Given the description of an element on the screen output the (x, y) to click on. 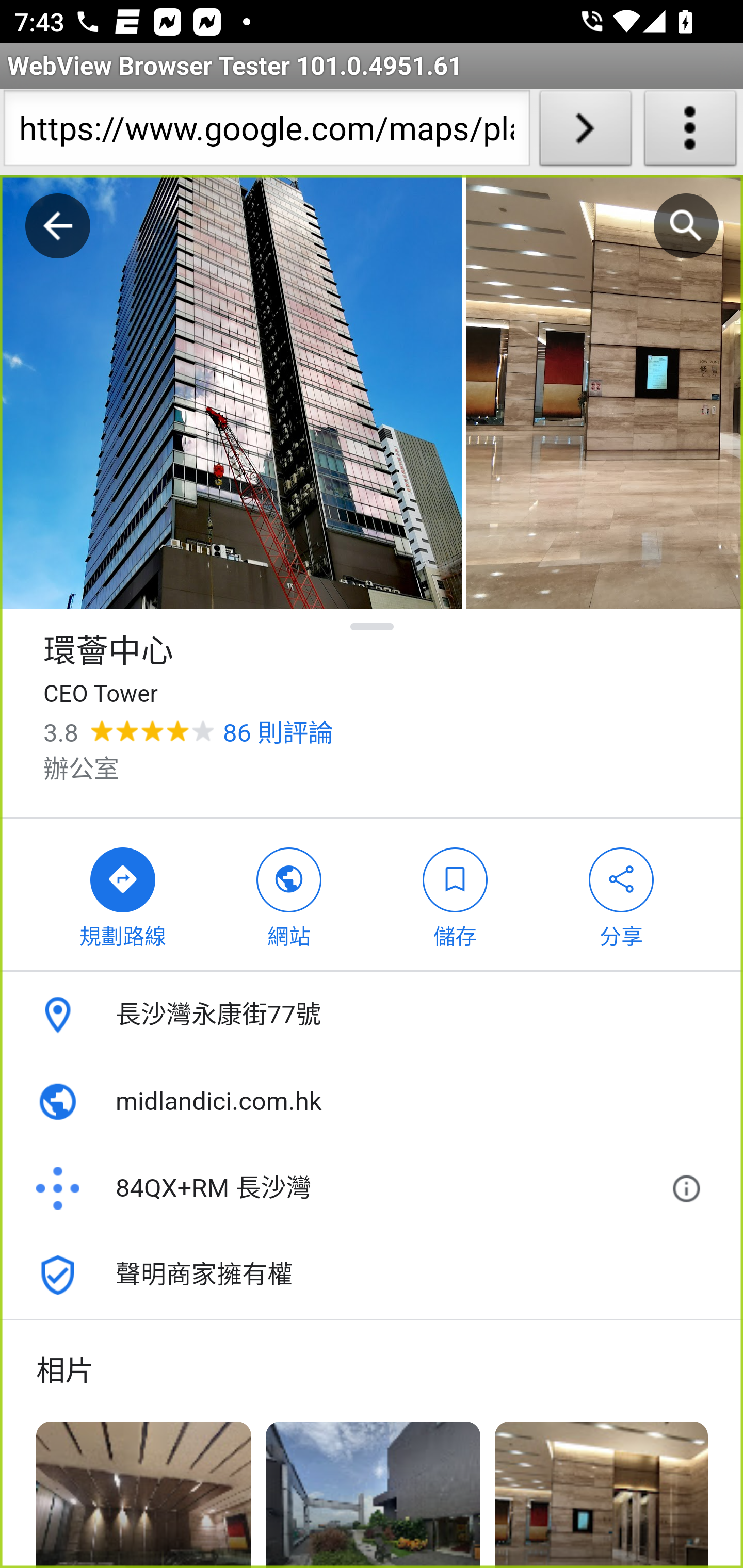
Load URL (585, 132)
About WebView (690, 132)
第 1 張相片 (共 10 張) (231, 392)
第 2 張相片 (共 10 張) (604, 392)
返回 (58, 226)
搜尋 (686, 226)
隱藏詳細資訊 (372, 626)
3.8 星級 86 則評論 (188, 733)
前往環薈中心的路線 (123, 894)
前往「環薈中心」的網站  網站 (289, 894)
將「環薈中心」儲存至清單中 (454, 894)
分享「環薈中心」 (621, 894)
地址: 長沙灣永康街77號  (371, 1014)
網站: midlandici.com.hk  midlandici.com.hk (371, 1102)
Plus Code: 84QX+RM 長沙灣 (345, 1189)
進一步瞭解 Plus Codes (690, 1189)
聲明商家擁有權 (371, 1275)
街景 1 (144, 1494)
街景 2 (371, 1494)
32 張相片 (601, 1494)
